Given the description of an element on the screen output the (x, y) to click on. 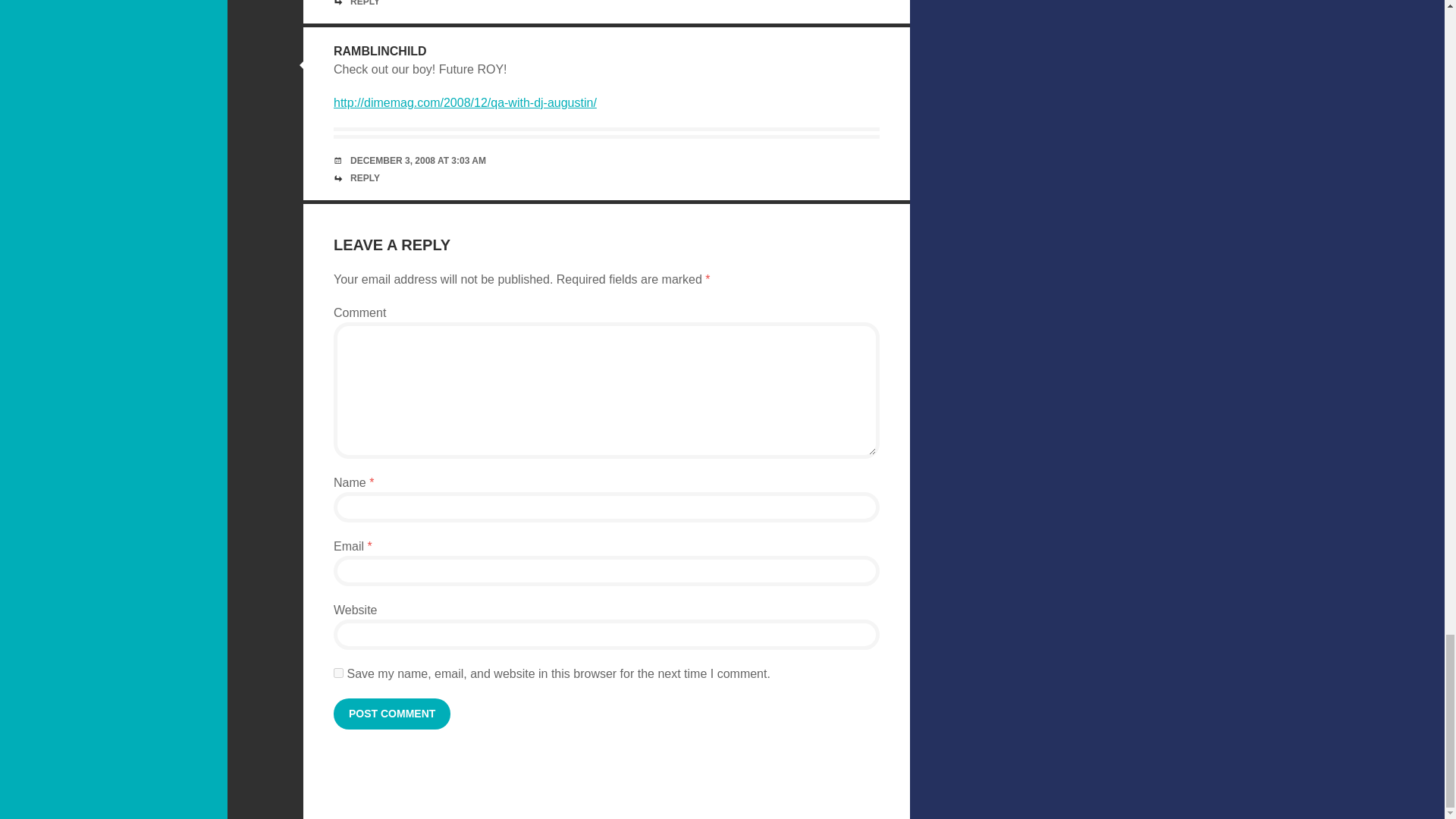
Post Comment (391, 713)
DECEMBER 3, 2008 AT 3:03 AM (418, 160)
REPLY (365, 3)
yes (338, 673)
